Given the description of an element on the screen output the (x, y) to click on. 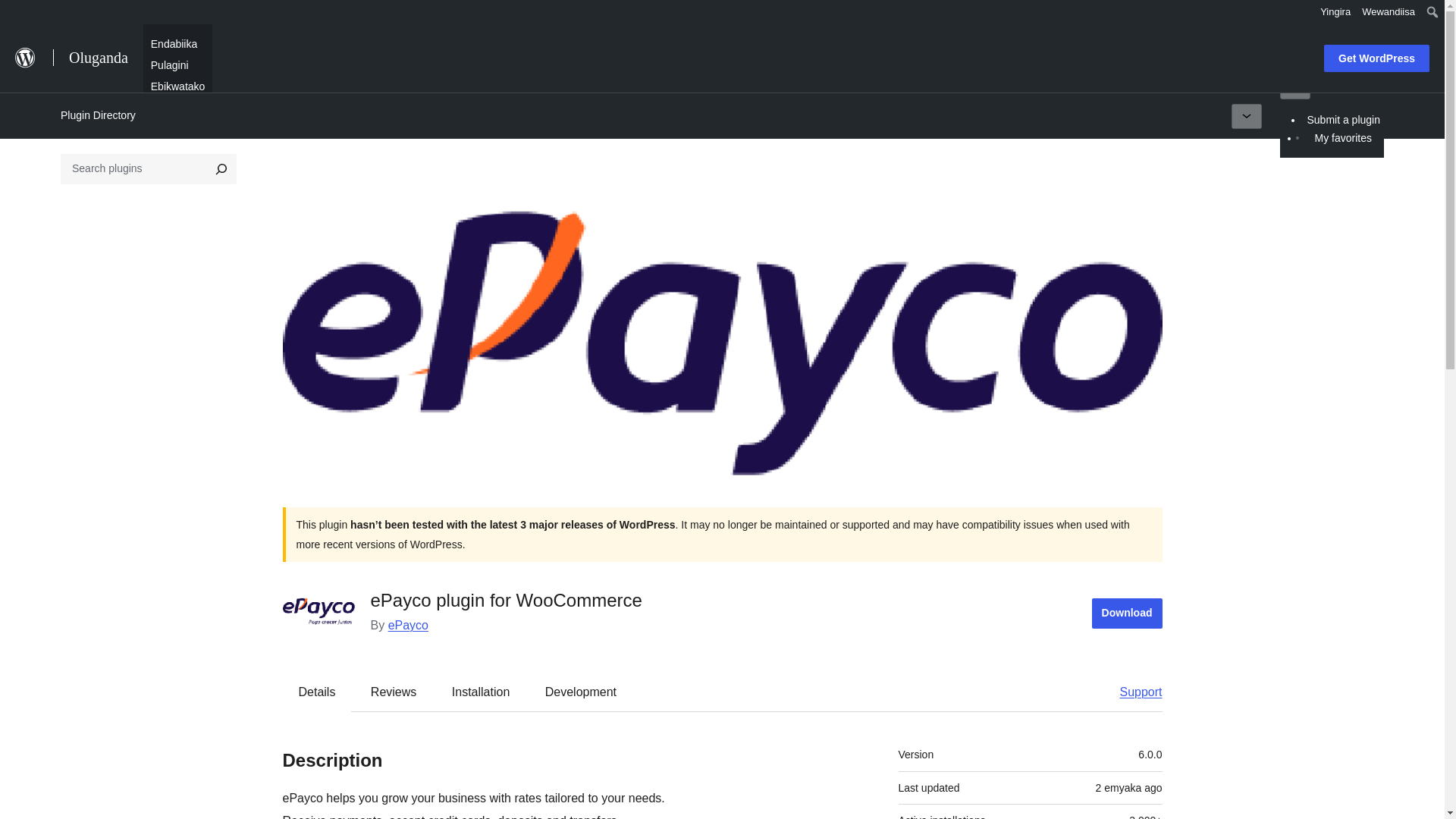
Details (316, 692)
ePayco (408, 625)
Plugin Directory (97, 115)
Noonya (18, 13)
Installation (480, 692)
Support (1132, 692)
Yingira (1335, 12)
Endabiika (173, 42)
My favorites (1342, 137)
Wewandiisa (1388, 12)
Pulagini (169, 63)
Get WordPress (1376, 58)
Ebikwatako (177, 84)
Reviews (392, 692)
Submit a plugin (1343, 119)
